Given the description of an element on the screen output the (x, y) to click on. 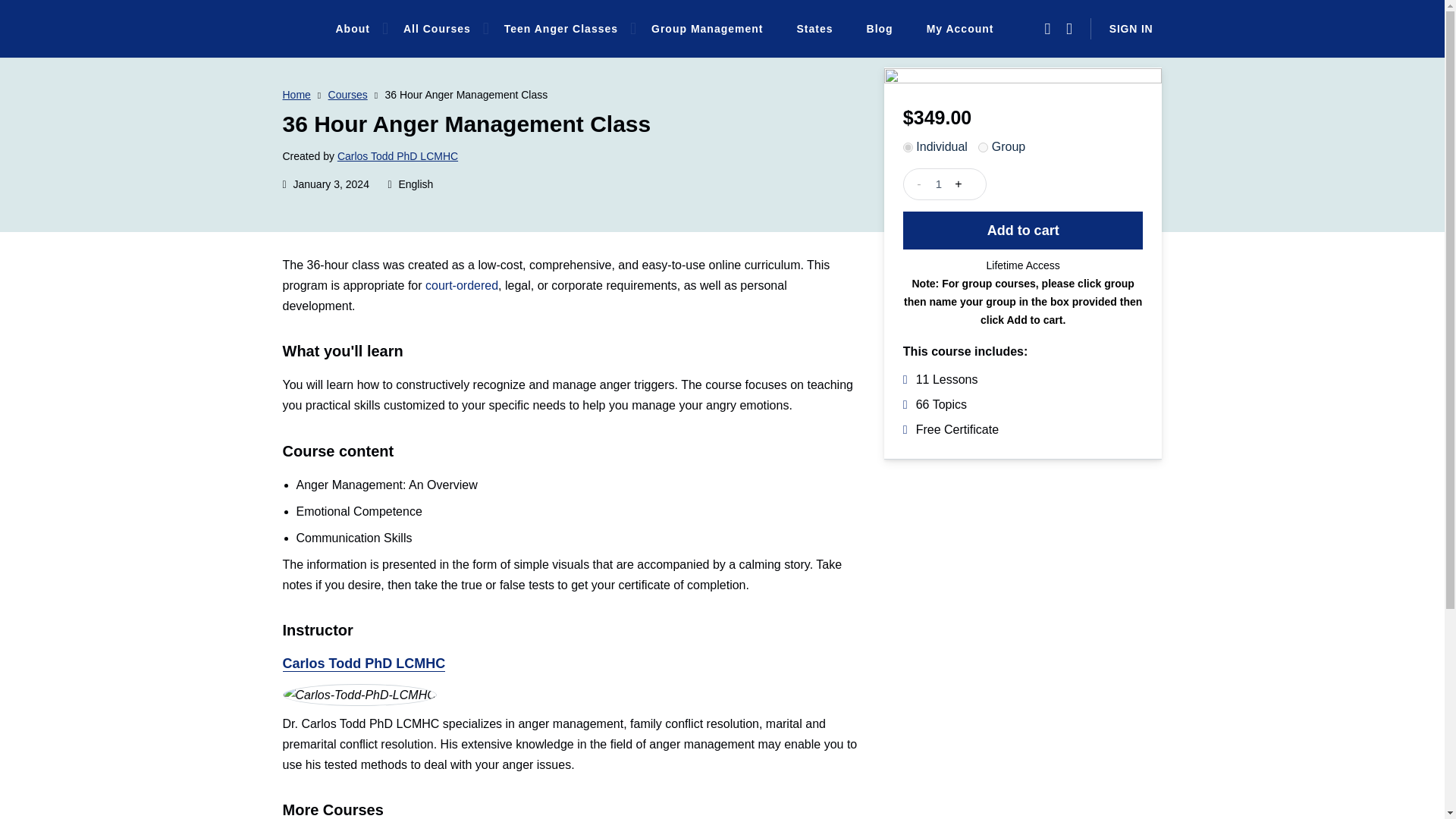
on (983, 147)
All Courses (437, 28)
SIGN IN (1130, 28)
My Account (959, 28)
Group Management (706, 28)
States (814, 28)
Teen Anger Classes (561, 28)
